Given the description of an element on the screen output the (x, y) to click on. 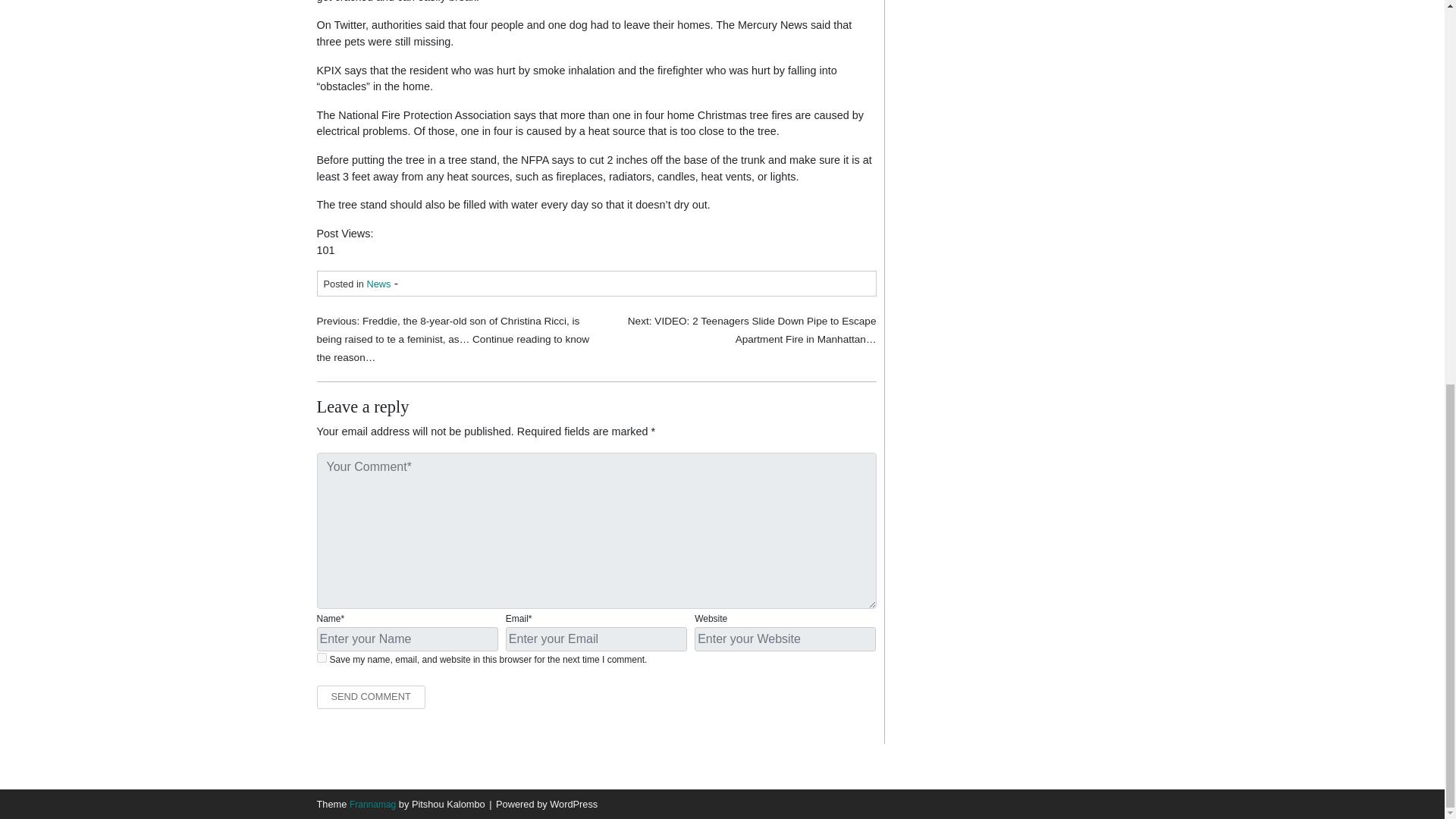
Frannamag (372, 804)
Send Comment (371, 697)
yes (321, 657)
Send Comment (371, 697)
News (378, 283)
